Given the description of an element on the screen output the (x, y) to click on. 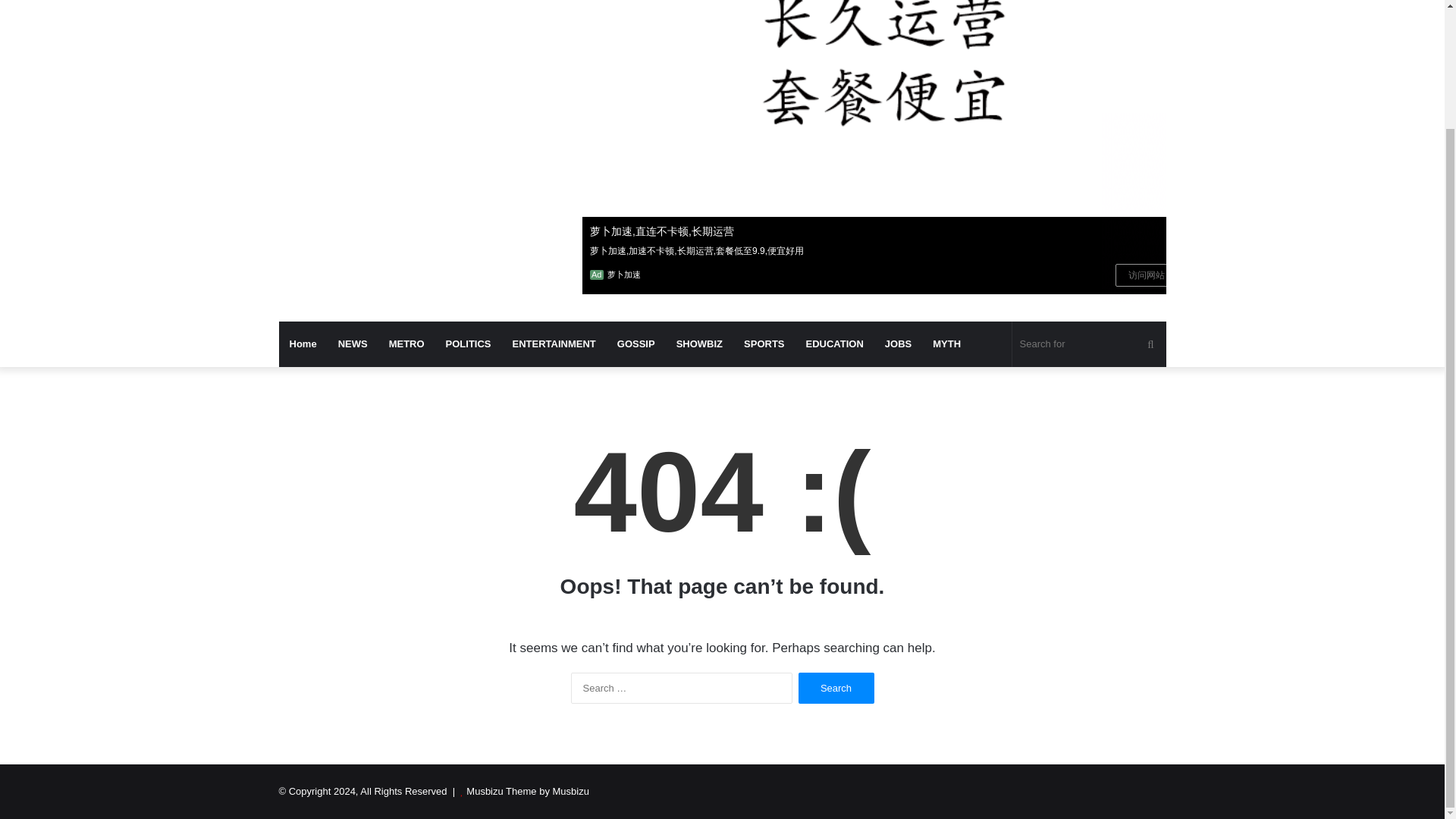
POLITICS (468, 343)
NEWS (352, 343)
Search (835, 687)
MYTH (946, 343)
Search for (1088, 343)
SHOWBIZ (699, 343)
JOBS (898, 343)
Musbizu (419, 4)
Home (303, 343)
ENTERTAINMENT (554, 343)
